Given the description of an element on the screen output the (x, y) to click on. 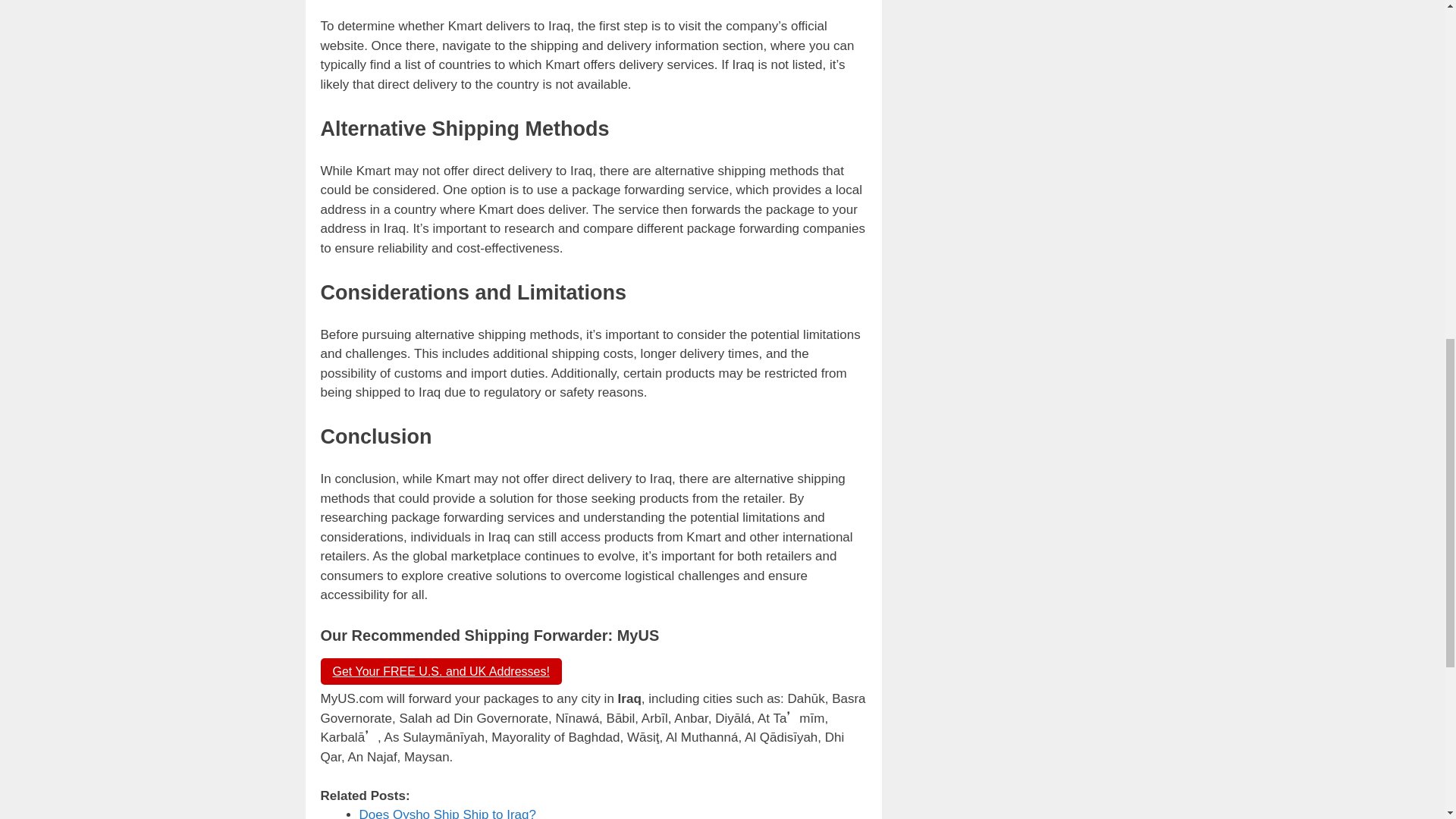
Does Oysho Ship Ship to Iraq? (447, 813)
Get Your FREE U.S. and UK Addresses! (440, 671)
